Given the description of an element on the screen output the (x, y) to click on. 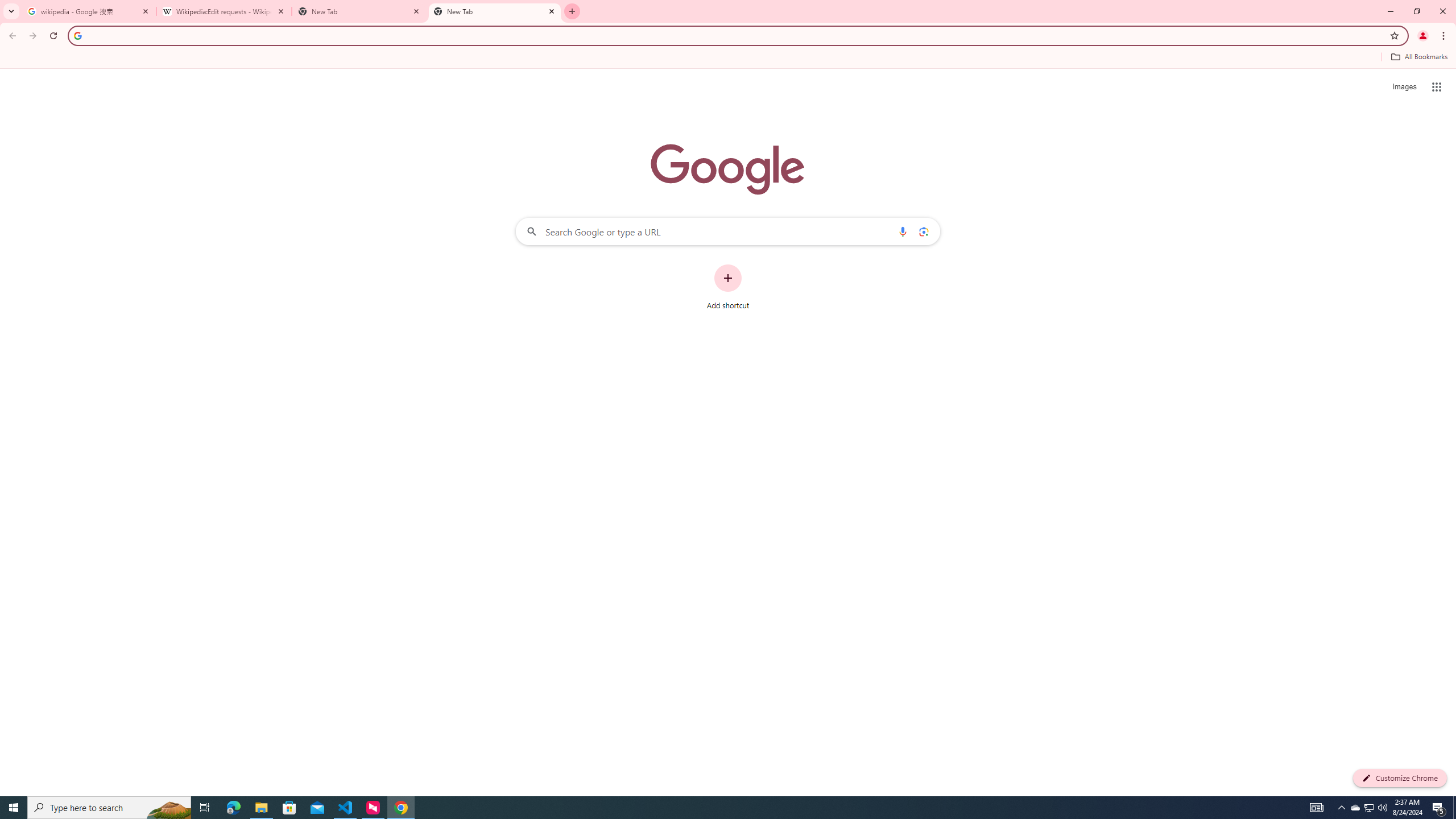
All Bookmarks (1418, 56)
Wikipedia:Edit requests - Wikipedia (224, 11)
Search icon (77, 35)
New Tab (494, 11)
Search by image (922, 230)
Search by voice (902, 230)
